Given the description of an element on the screen output the (x, y) to click on. 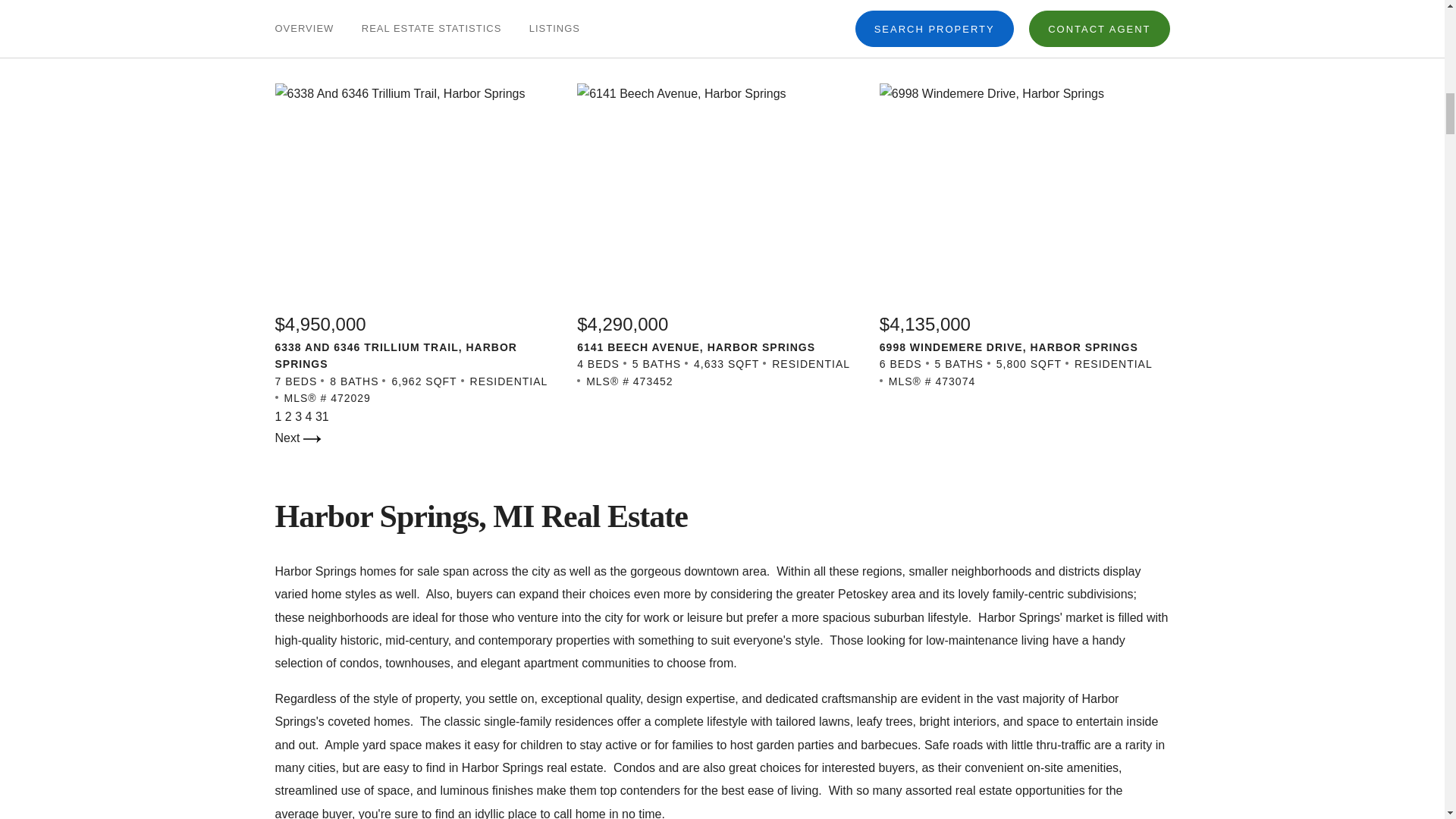
Next Page (297, 437)
Current Page is 31 (322, 416)
